Given the description of an element on the screen output the (x, y) to click on. 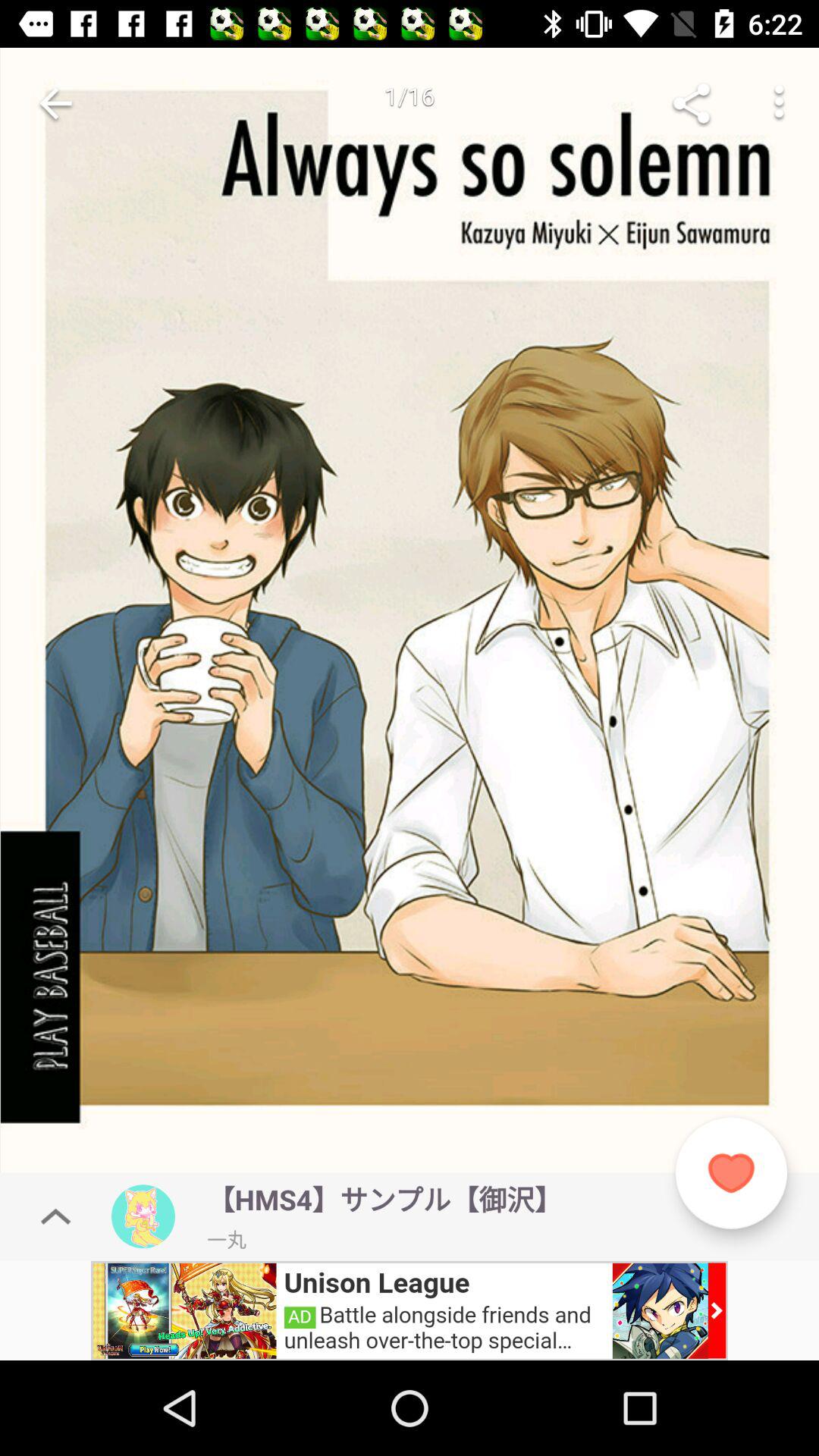
go to favorite (731, 1173)
